Given the description of an element on the screen output the (x, y) to click on. 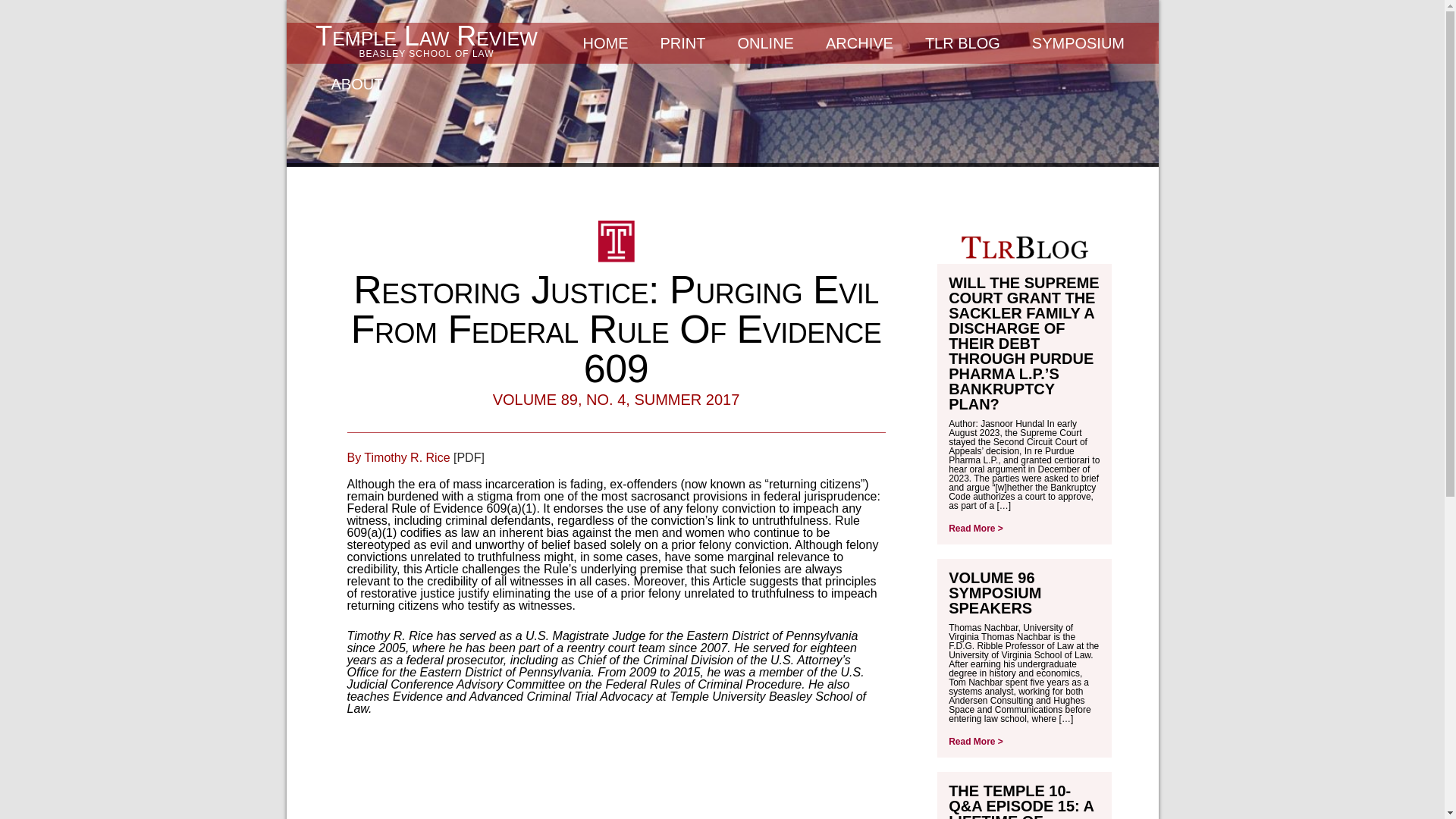
View Current Edition (683, 42)
Link to Volume 96 Symposium Speakers (995, 592)
ABOUT (356, 83)
HOME (606, 42)
Link to Volume 96 Symposium Speakers (976, 741)
PRINT (426, 40)
TLR BLOG (683, 42)
SYMPOSIUM (962, 42)
ARCHIVE (1078, 42)
VOLUME 96 SYMPOSIUM SPEAKERS (858, 42)
ONLINE (995, 592)
